Given the description of an element on the screen output the (x, y) to click on. 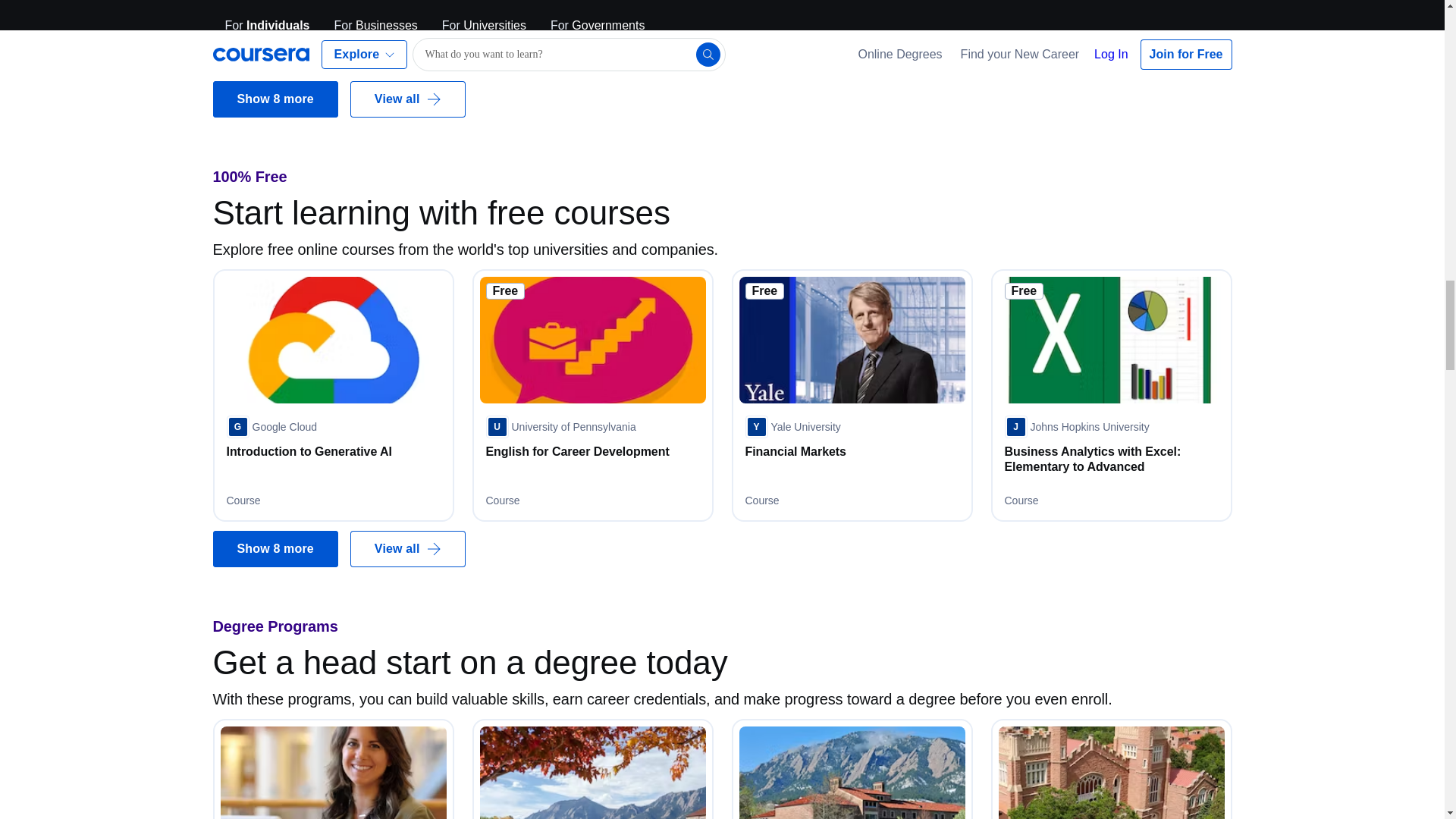
Google Cloud (1049, 2)
Microsoft (778, 2)
Google Cloud (271, 426)
Microsoft (260, 2)
Google Cloud (530, 2)
Johns Hopkins University (1076, 426)
University of Pennsylvania (559, 426)
Yale University (792, 426)
